Given the description of an element on the screen output the (x, y) to click on. 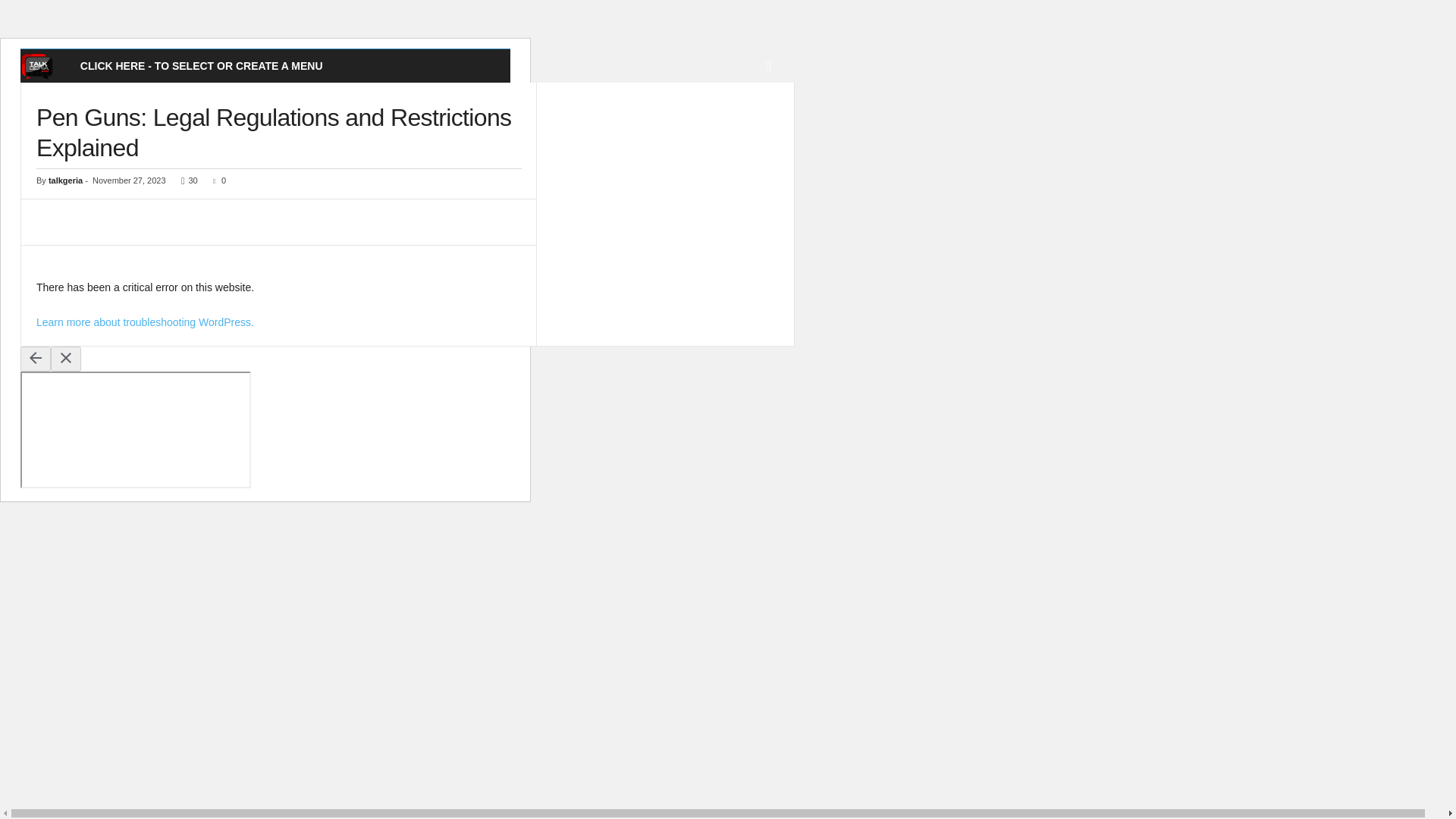
Learn more about troubleshooting WordPress. (144, 322)
CLICK HERE - TO SELECT OR CREATE A MENU (201, 65)
Talkgeria.com (44, 66)
0 (215, 180)
talkgeria (65, 180)
